Given the description of an element on the screen output the (x, y) to click on. 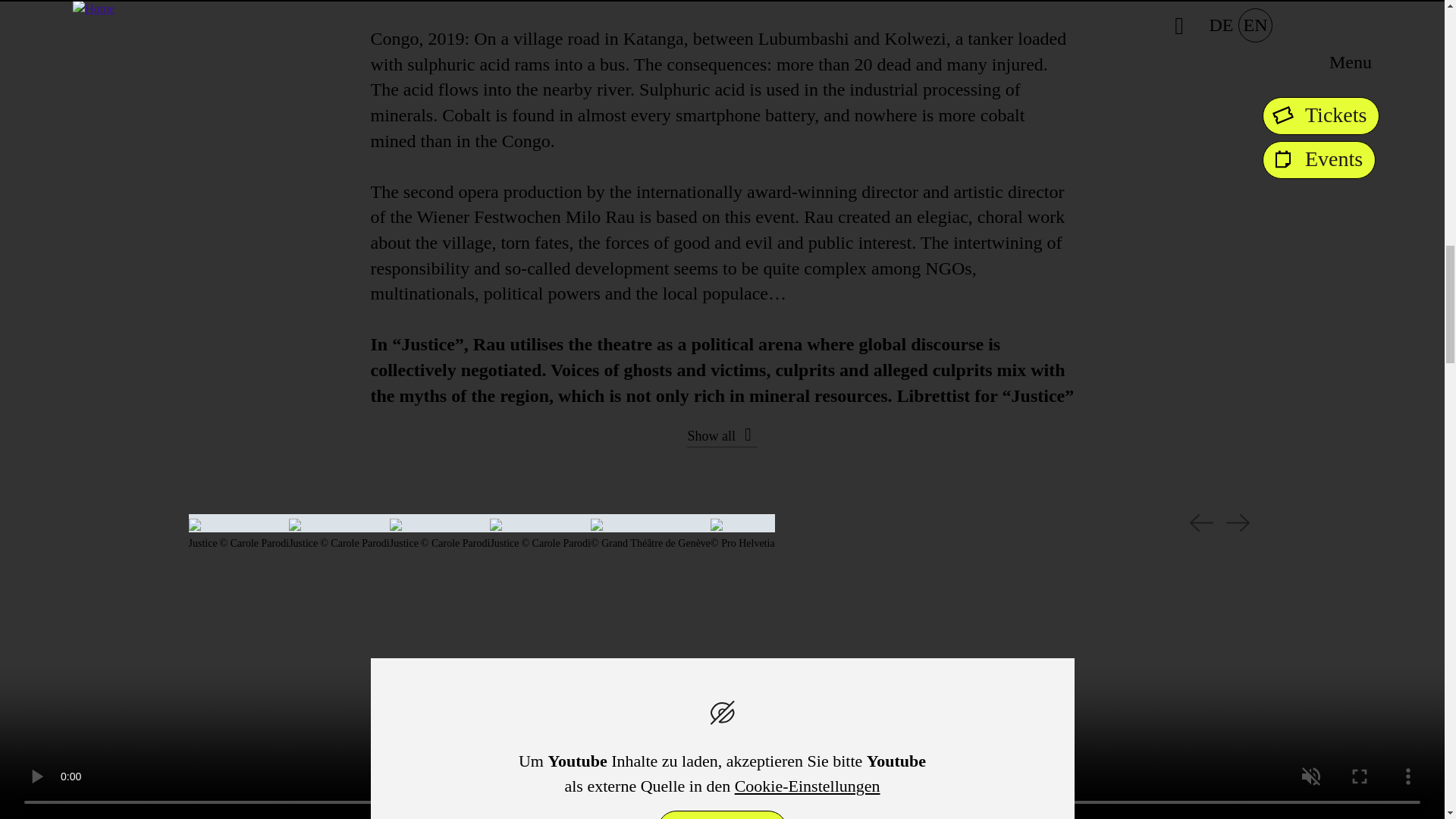
Cookie-Einstellungen (807, 785)
